Given the description of an element on the screen output the (x, y) to click on. 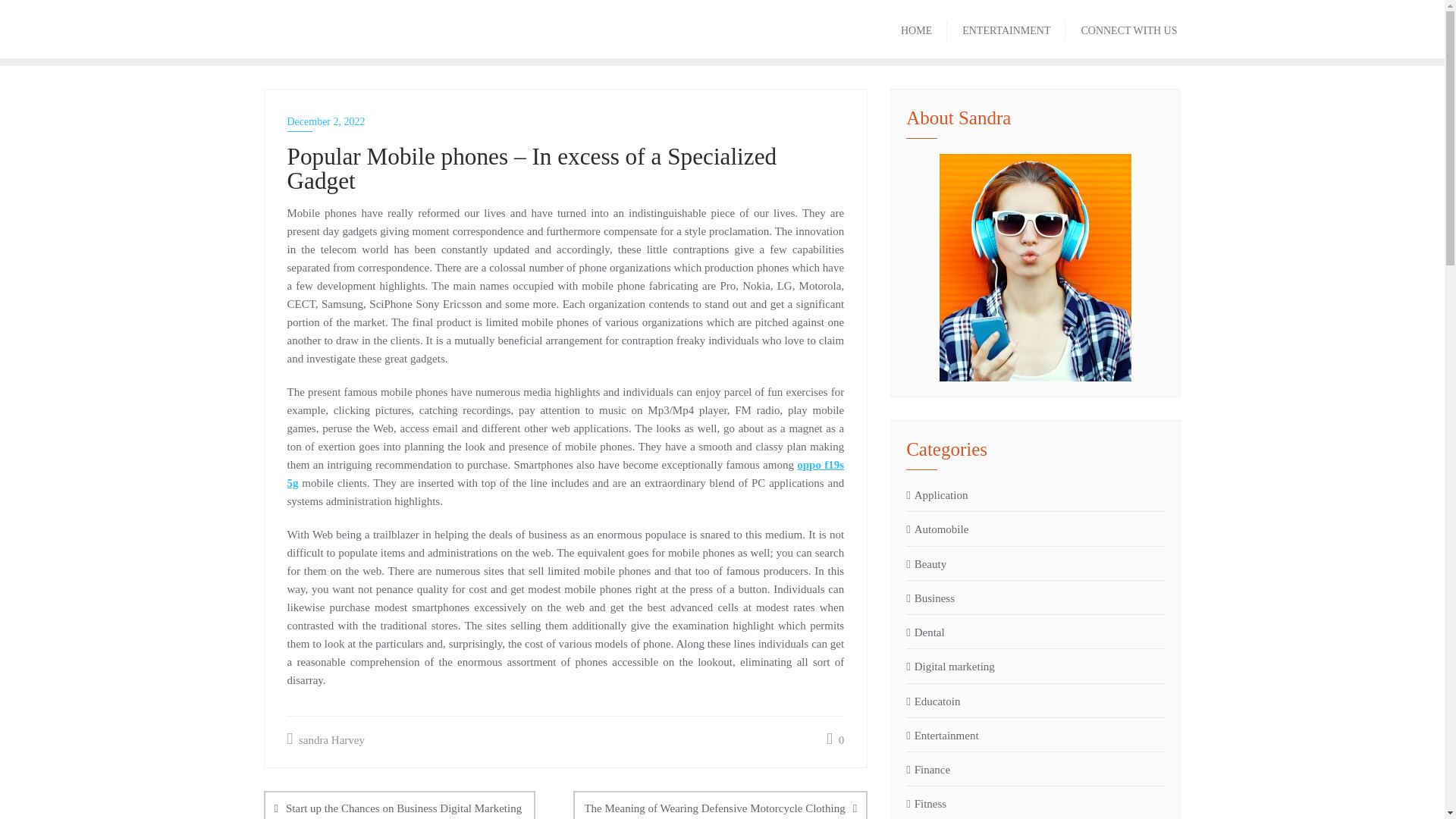
Beauty (925, 564)
December 2, 2022 (565, 121)
Entertainment (941, 735)
Fitness (925, 803)
Start up the Chances on Business Digital Marketing Agency (399, 805)
Finance (927, 769)
Digital marketing (949, 666)
Dental (924, 632)
Application (936, 495)
Educatoin (932, 701)
